Given the description of an element on the screen output the (x, y) to click on. 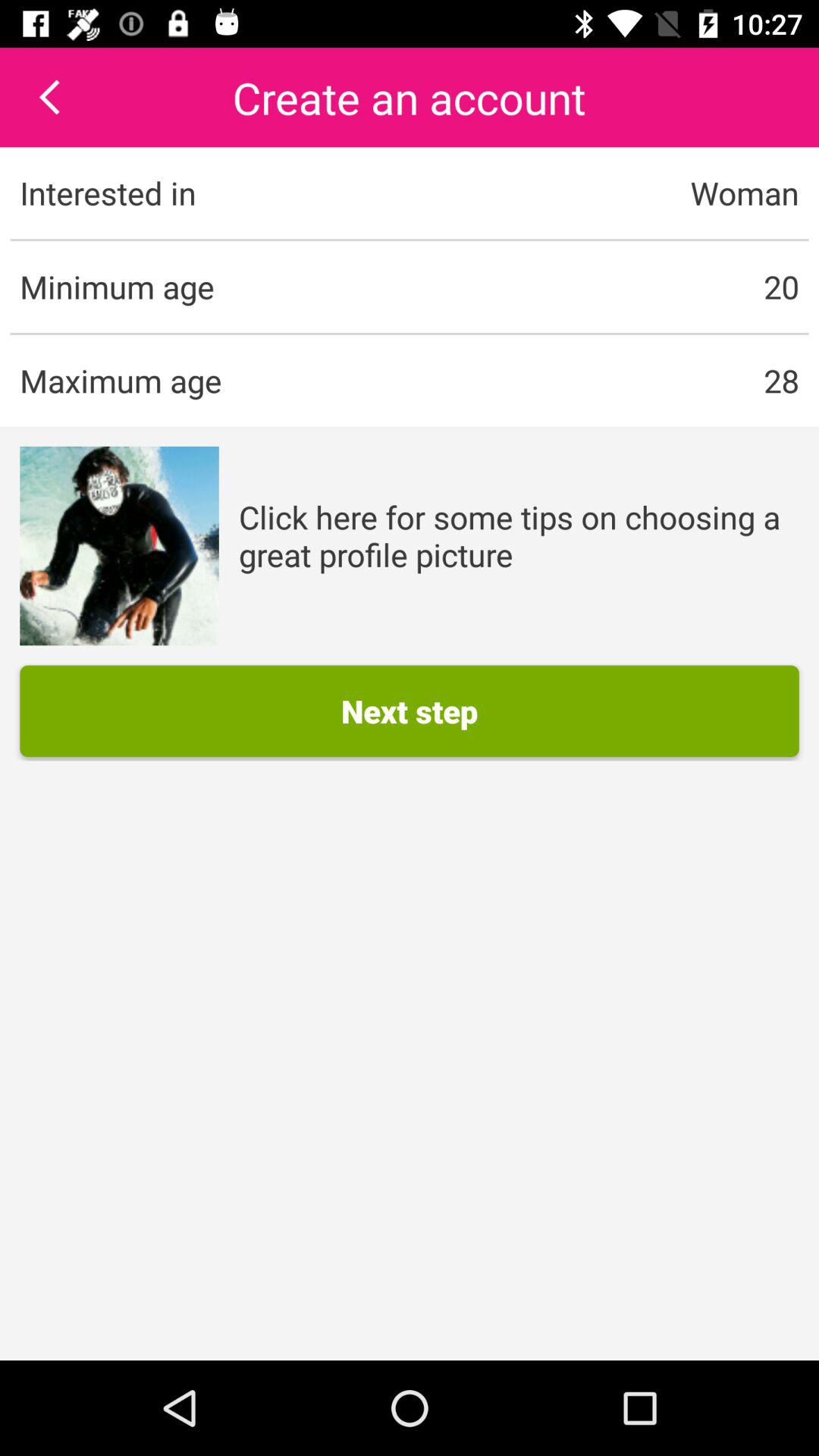
launch the item above the next step (118, 545)
